Given the description of an element on the screen output the (x, y) to click on. 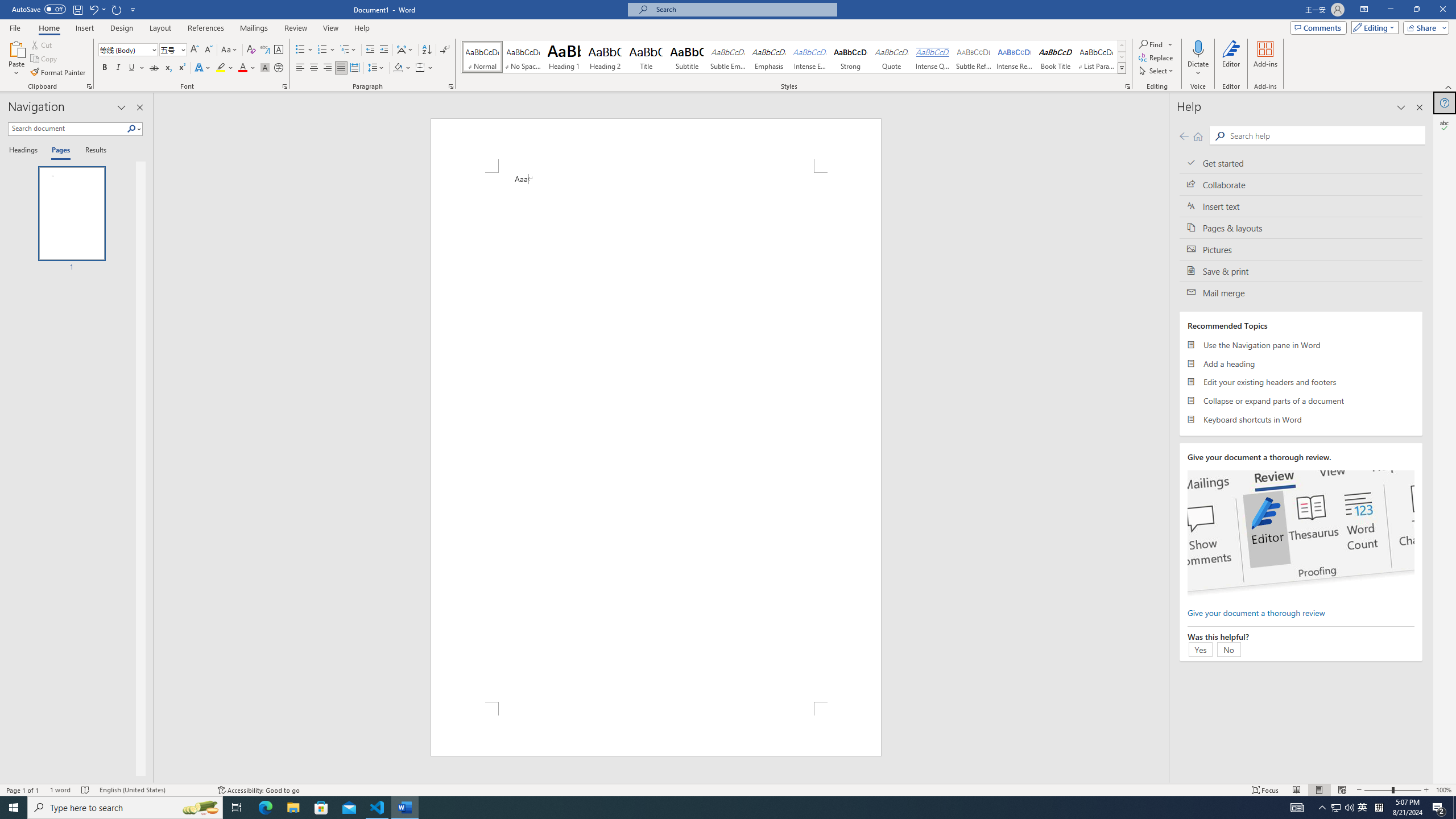
Use the Navigation pane in Word (1300, 344)
Repeat Increase Indent (117, 9)
